Given the description of an element on the screen output the (x, y) to click on. 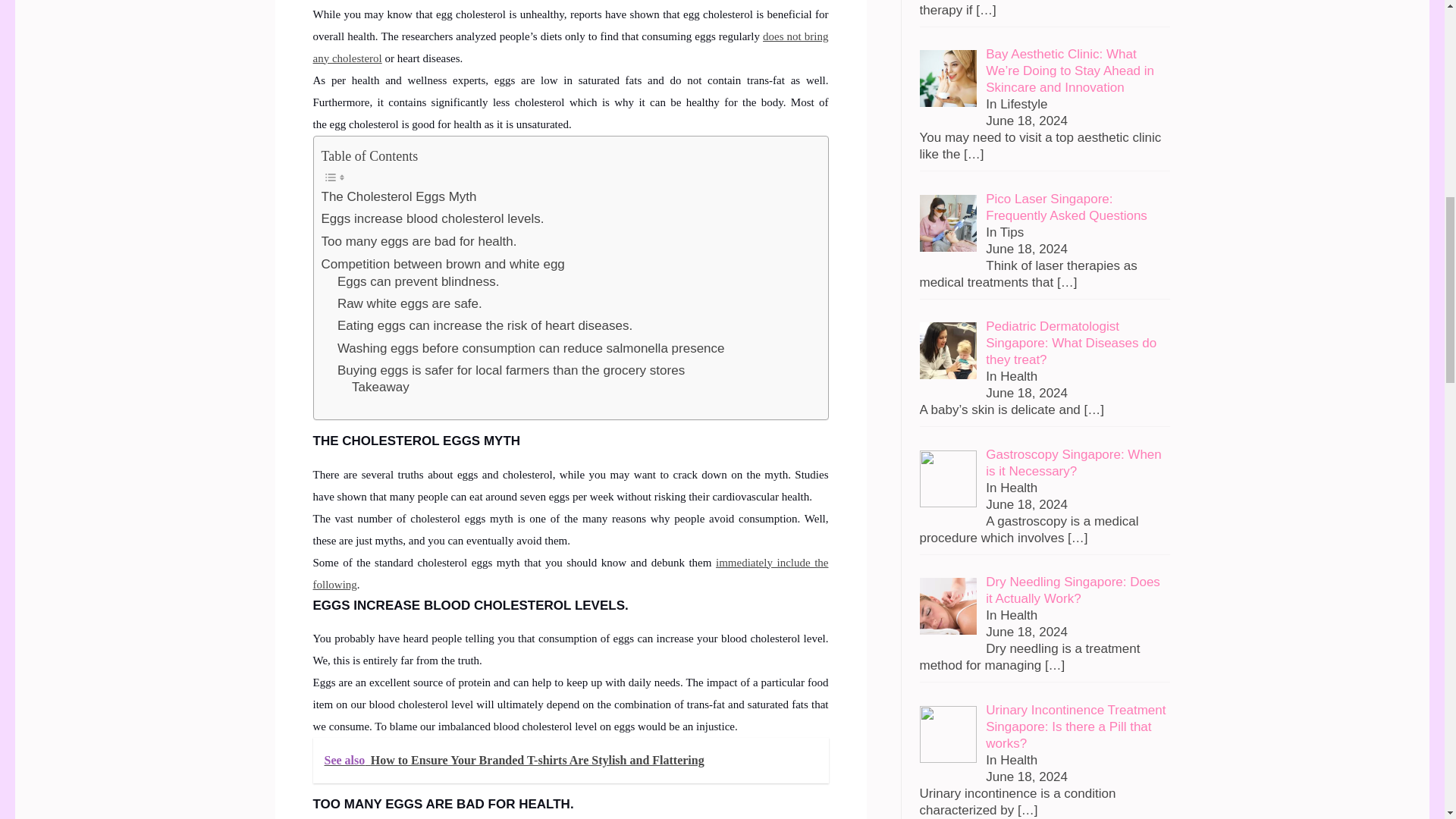
The Cholesterol Eggs Myth (399, 196)
Eggs increase blood cholesterol levels. (432, 218)
